Given the description of an element on the screen output the (x, y) to click on. 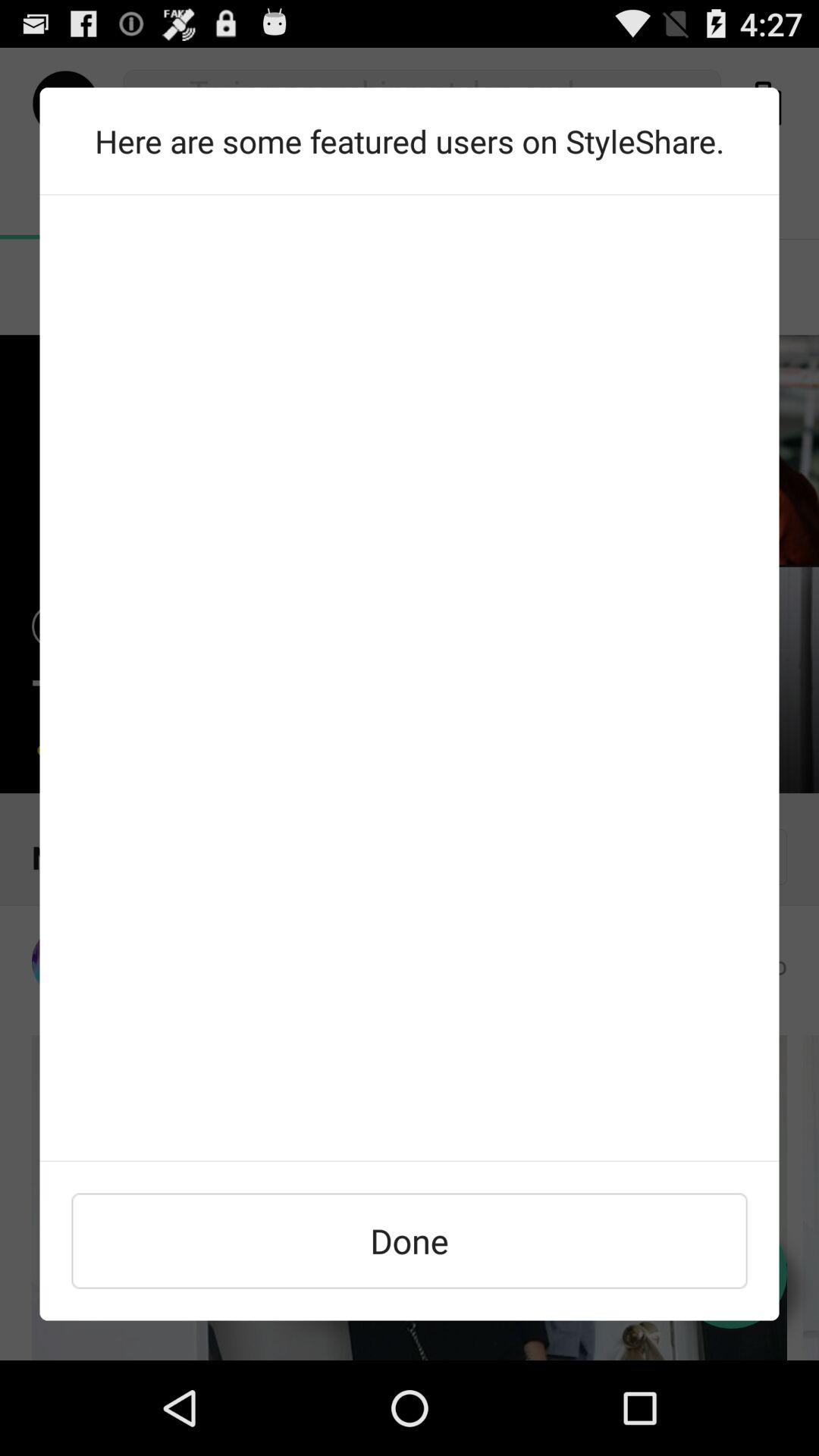
select done icon (409, 1240)
